Given the description of an element on the screen output the (x, y) to click on. 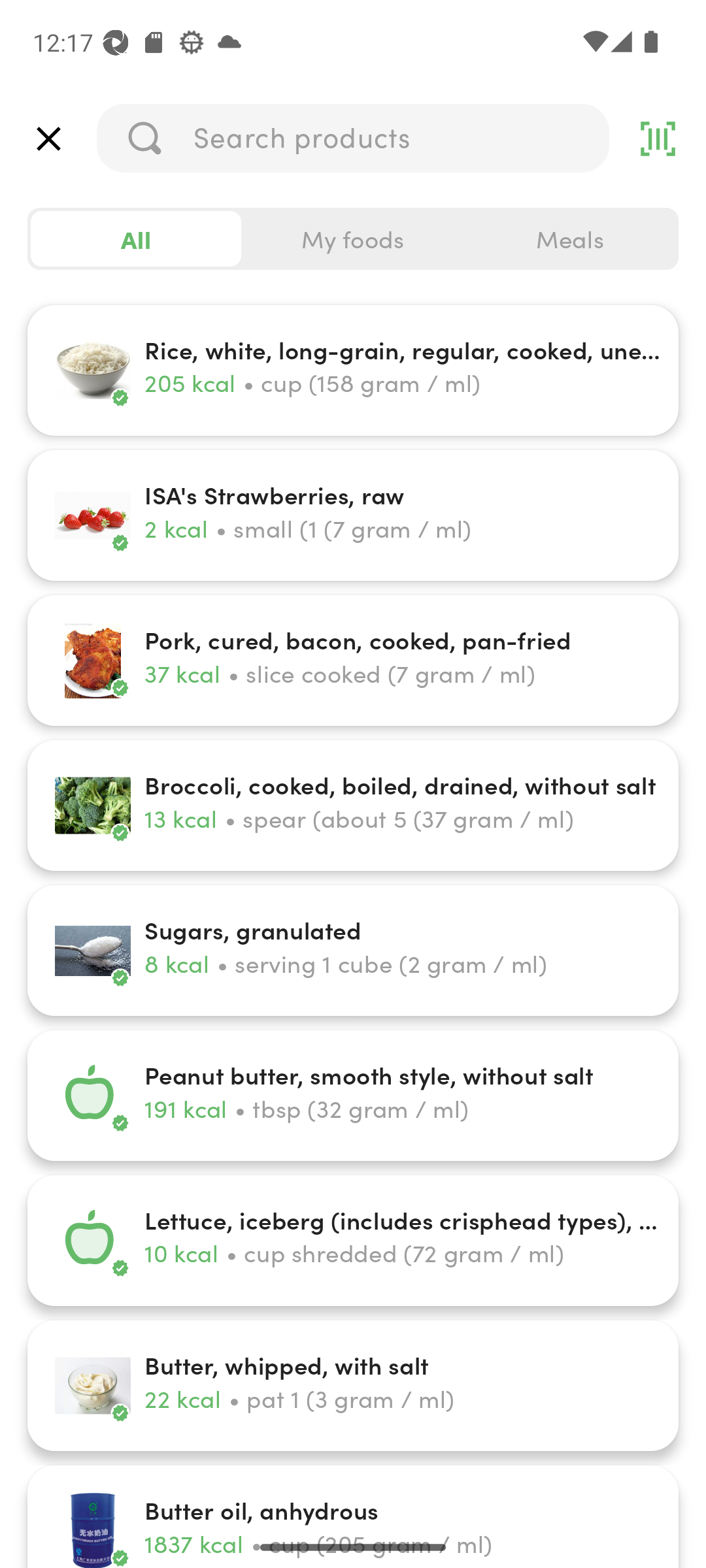
top_left_action (48, 138)
top_right_action (658, 138)
My foods (352, 238)
Meals (569, 238)
